Given the description of an element on the screen output the (x, y) to click on. 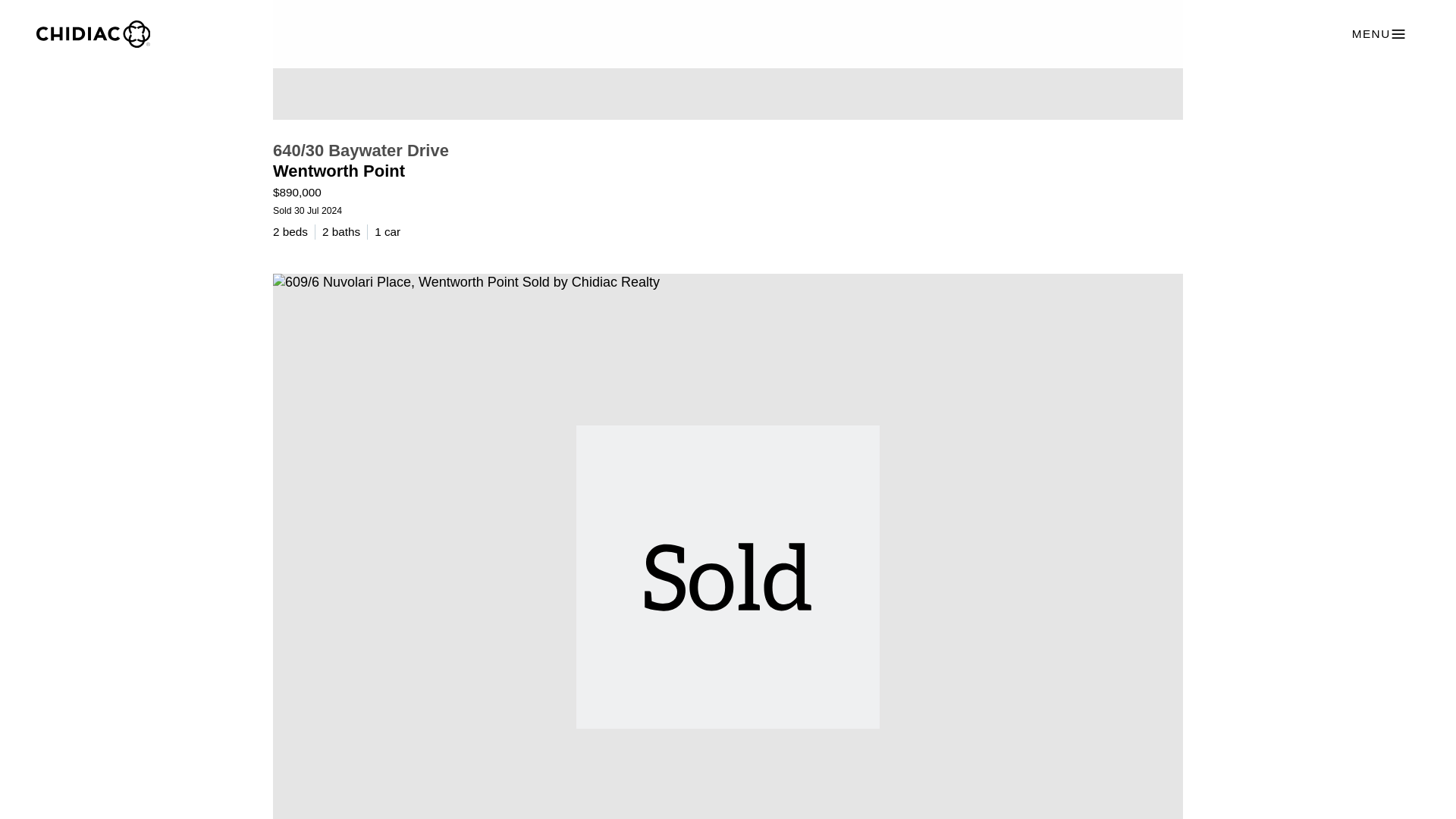
SOLD (727, 59)
